Given the description of an element on the screen output the (x, y) to click on. 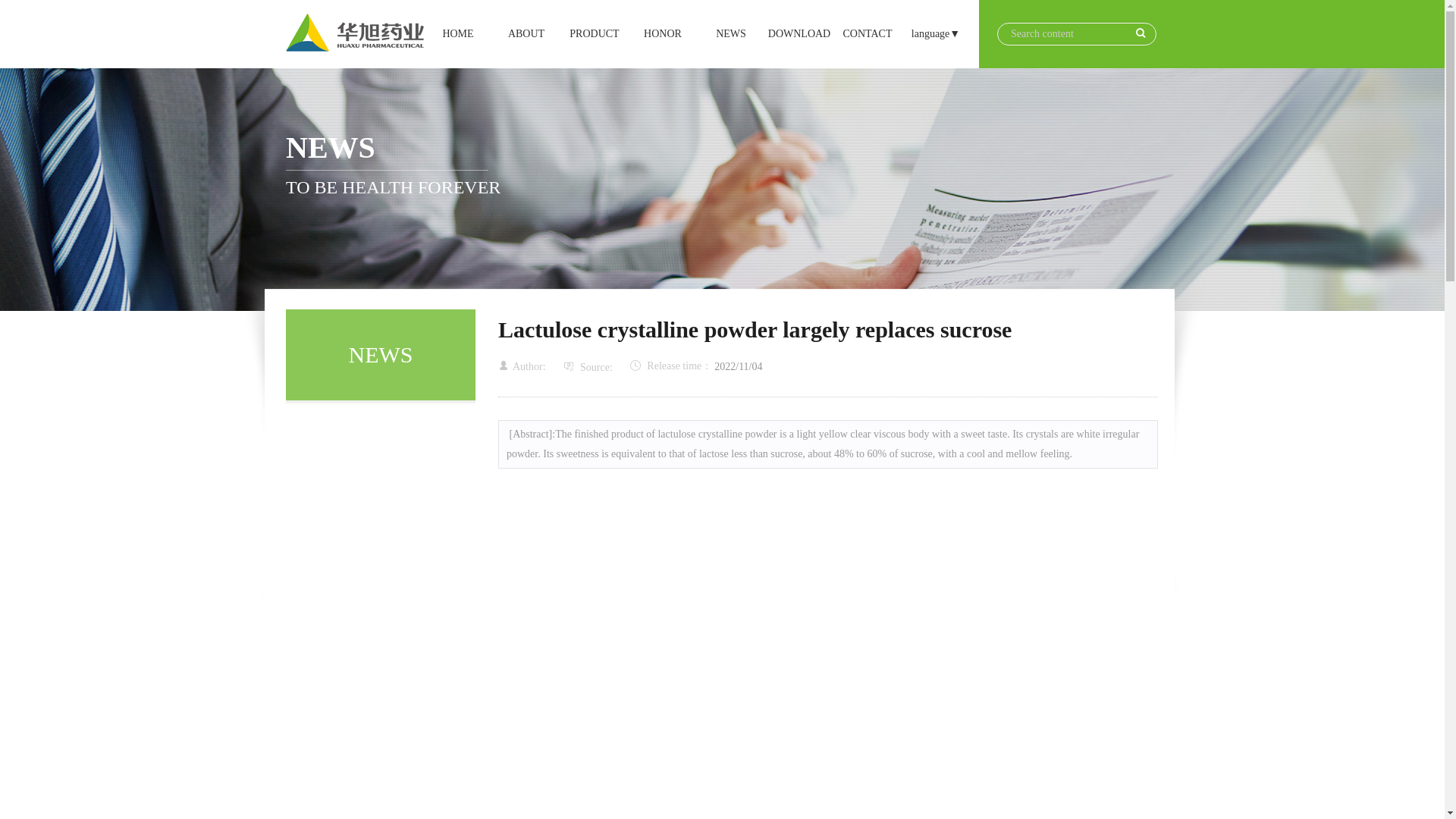
Huaxu Pharmaceutical (526, 33)
